Given the description of an element on the screen output the (x, y) to click on. 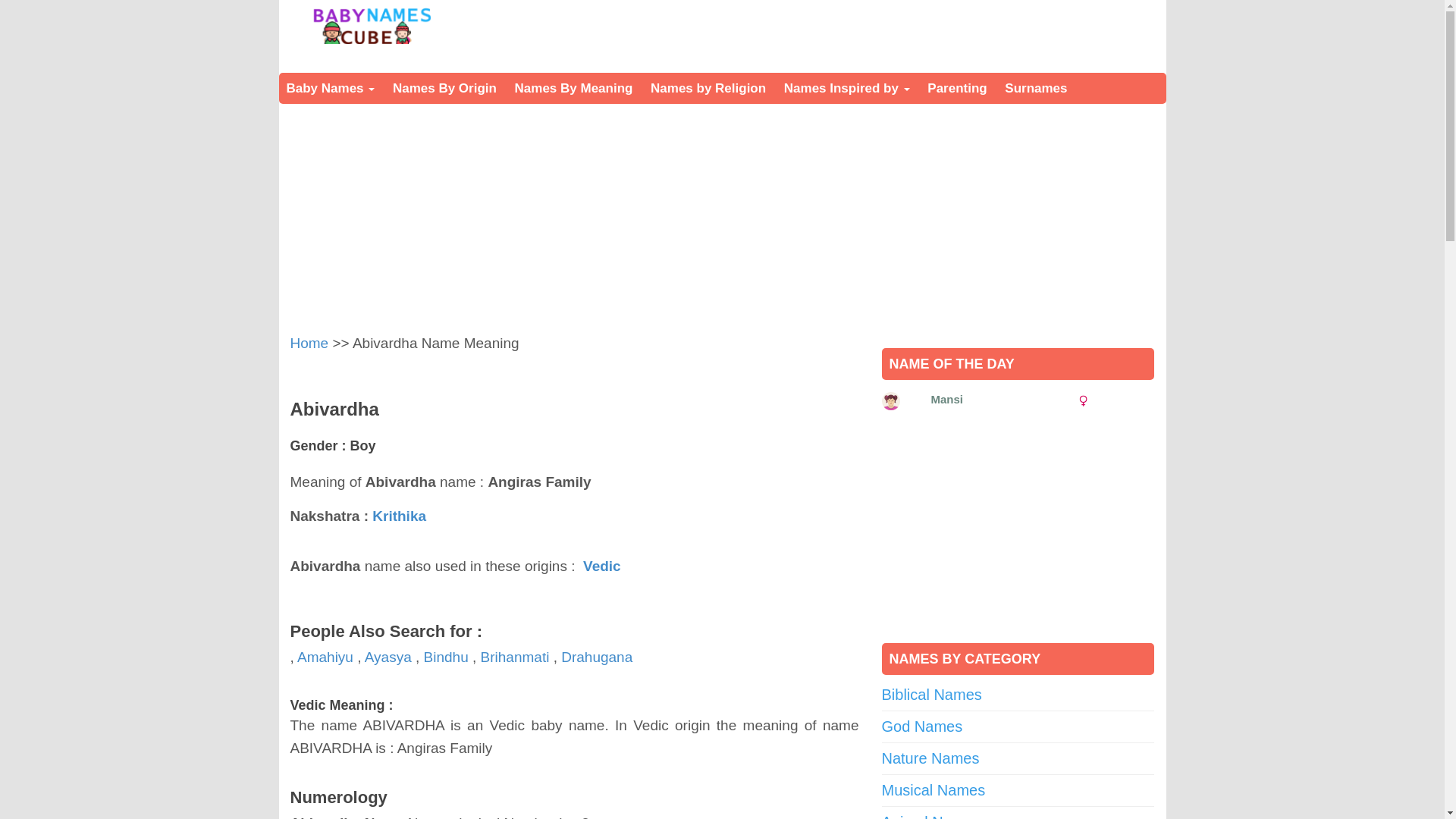
Mansi baby names (889, 401)
Names by Religion (708, 88)
Names Inspired by (846, 88)
Amahiyu (325, 657)
Surnames (1035, 88)
Krithika (399, 515)
Vedic (602, 565)
Home (309, 342)
Advertisement (1007, 531)
Advertisement (868, 33)
Names By Origin (444, 88)
Names By Meaning (573, 88)
Baby Names and Meanings (371, 25)
Baby Names (330, 88)
